Given the description of an element on the screen output the (x, y) to click on. 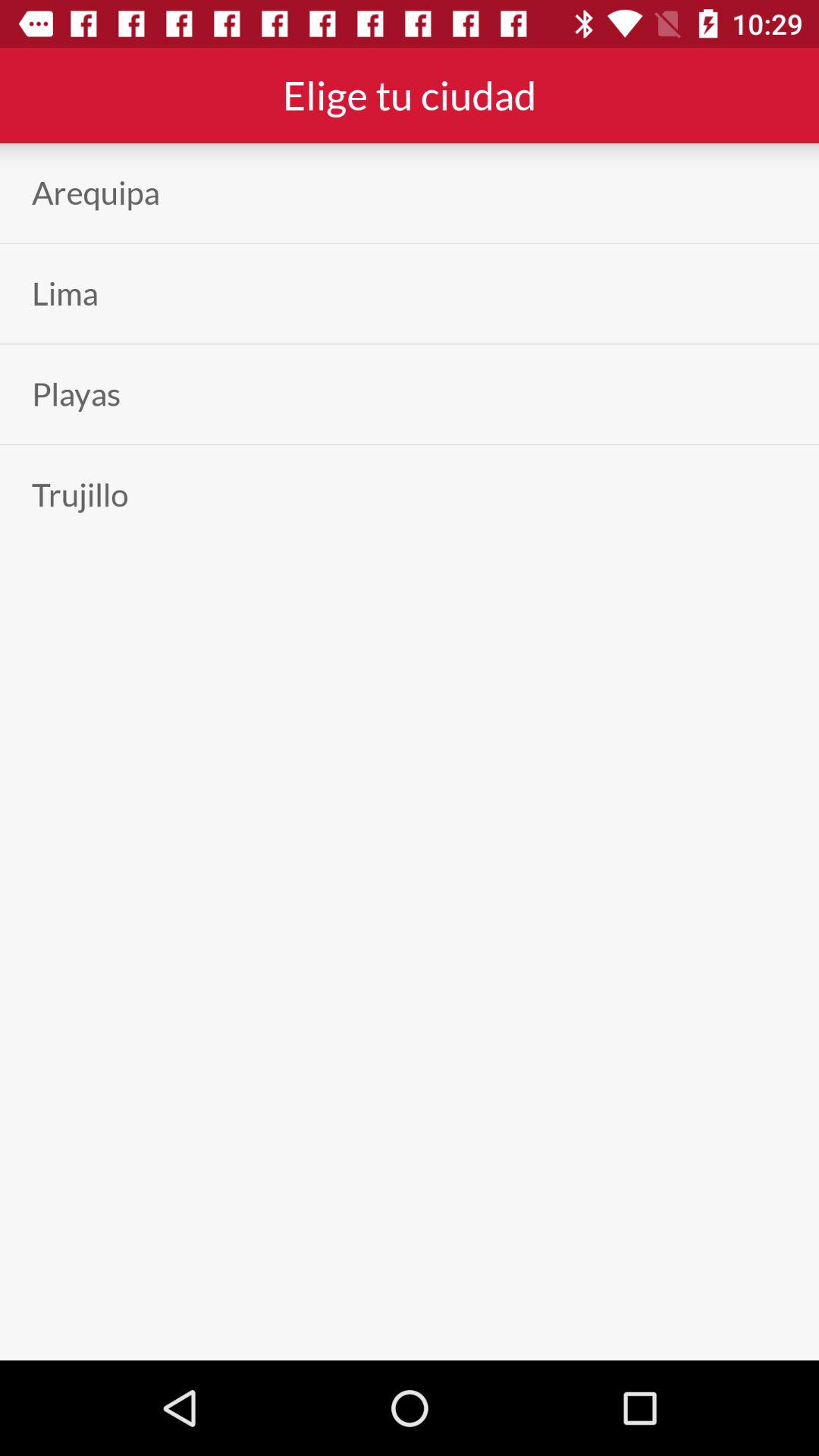
choose the item below lima icon (75, 394)
